Given the description of an element on the screen output the (x, y) to click on. 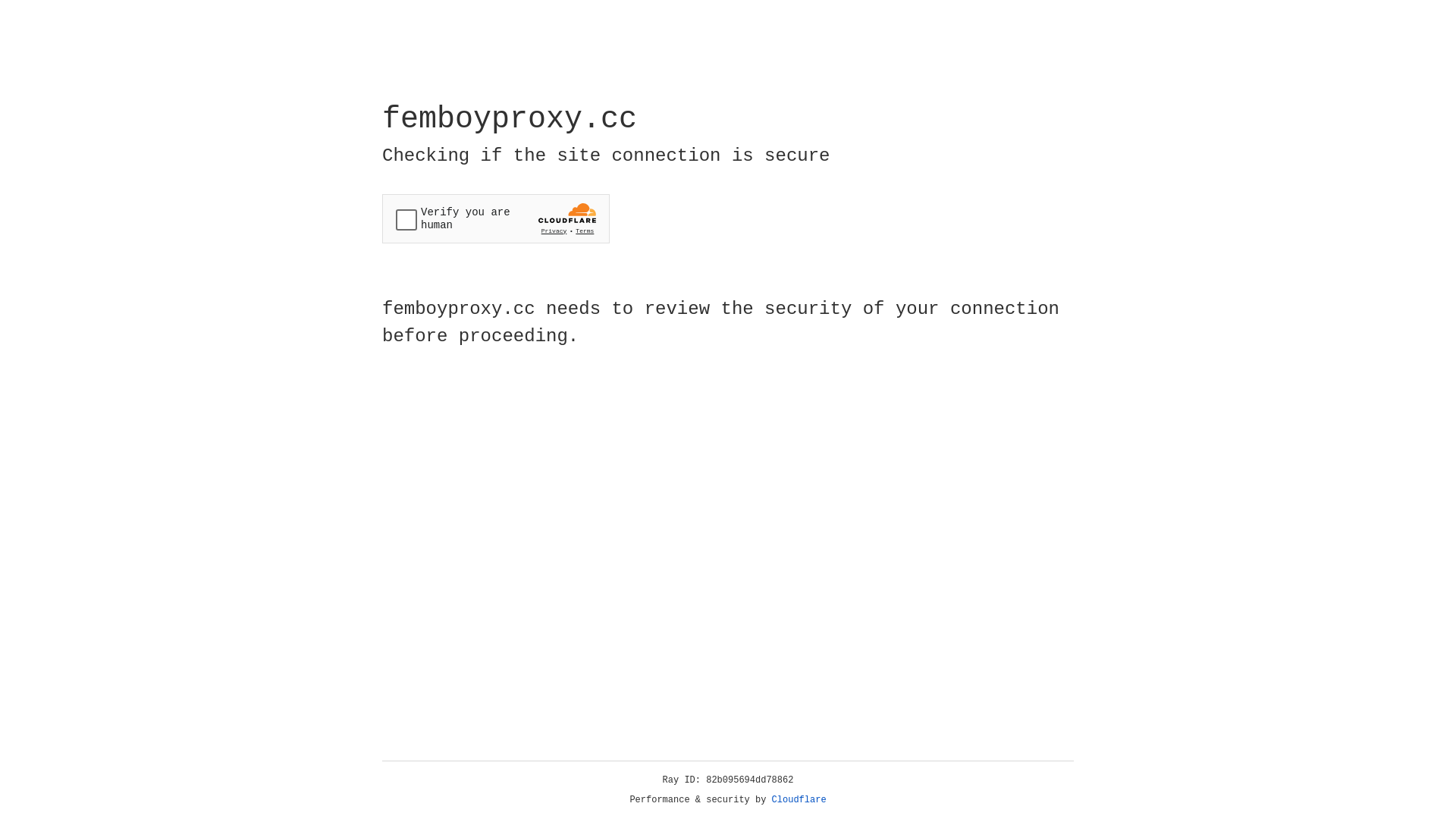
Widget containing a Cloudflare security challenge Element type: hover (495, 218)
Cloudflare Element type: text (798, 799)
